Given the description of an element on the screen output the (x, y) to click on. 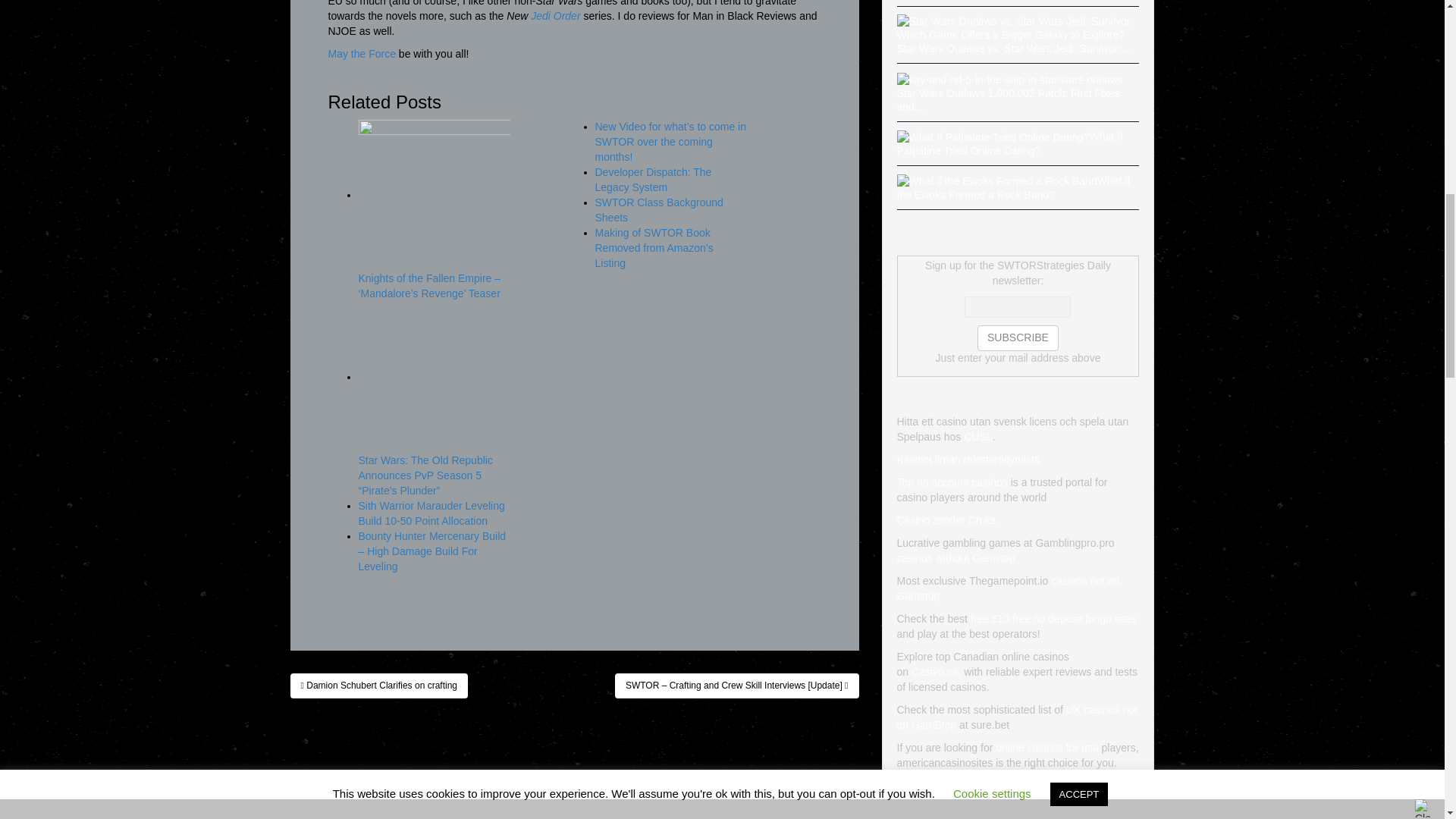
What If Palpatine Tried Online Dating? (992, 137)
Subscribe (1017, 338)
What if the Ewoks Formed a Rock Band? (996, 181)
